Given the description of an element on the screen output the (x, y) to click on. 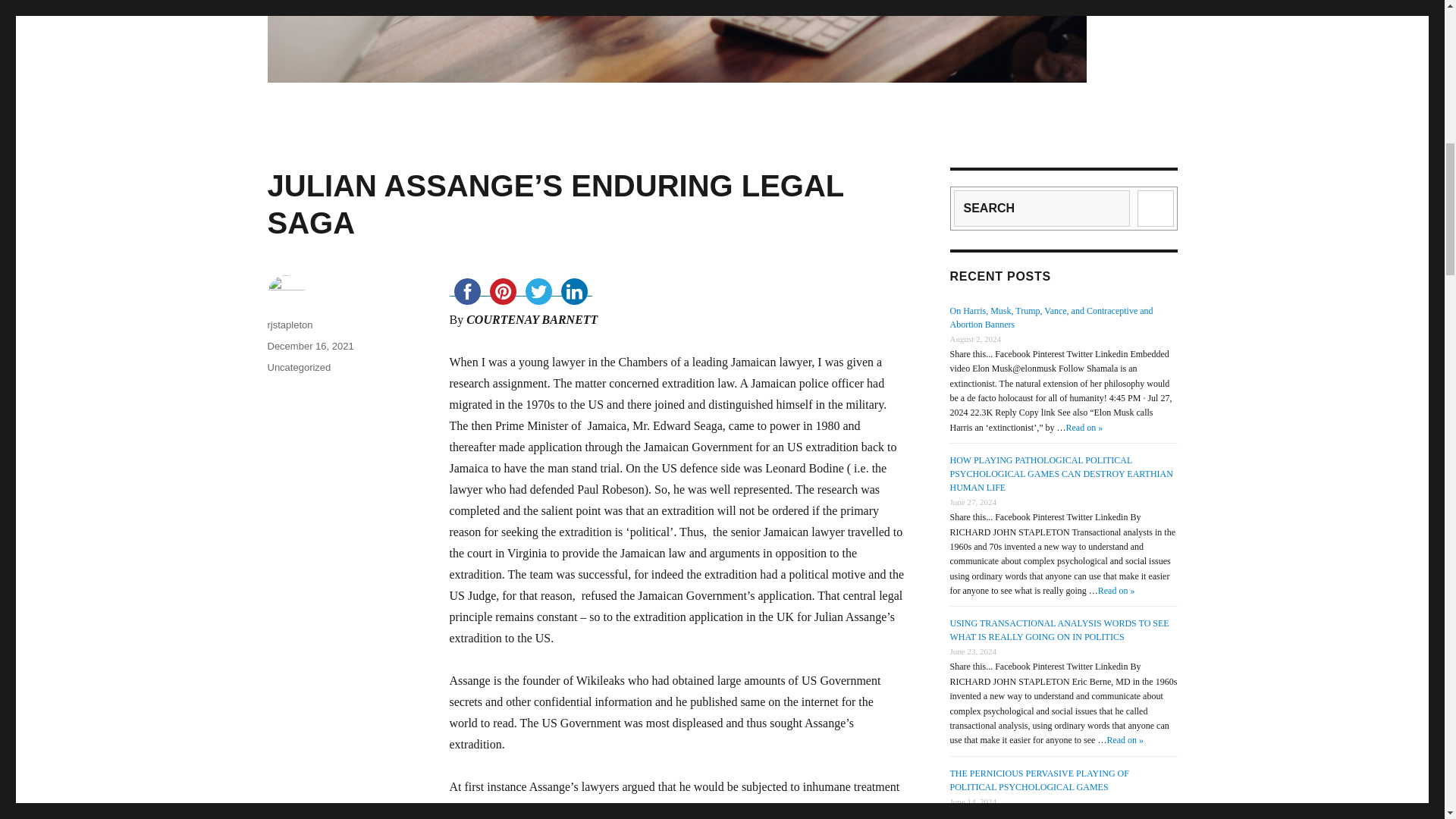
linkedin (574, 291)
pinterest (502, 291)
twitter (537, 291)
facebook (466, 291)
